Given the description of an element on the screen output the (x, y) to click on. 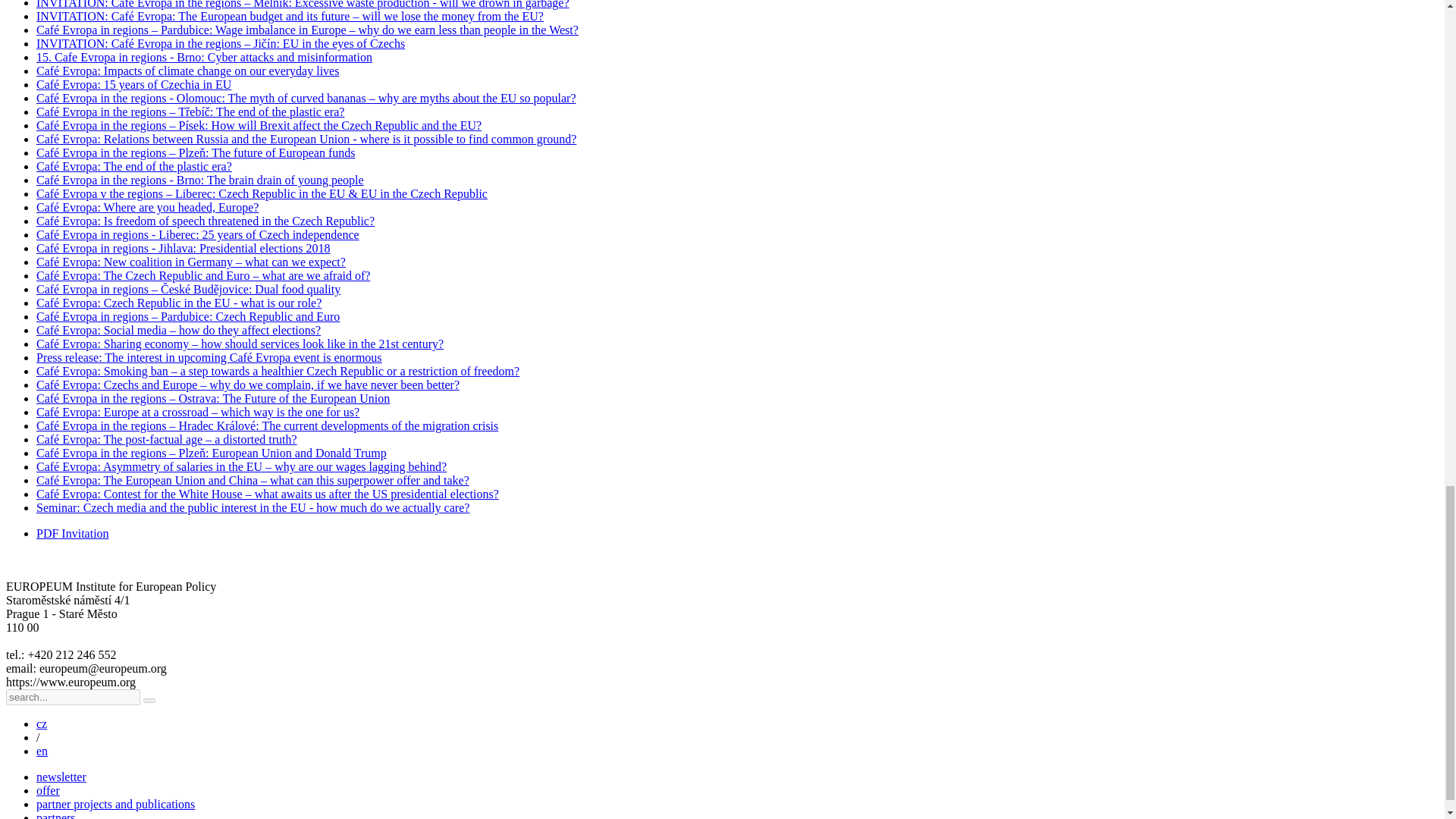
newsletter (60, 776)
